Given the description of an element on the screen output the (x, y) to click on. 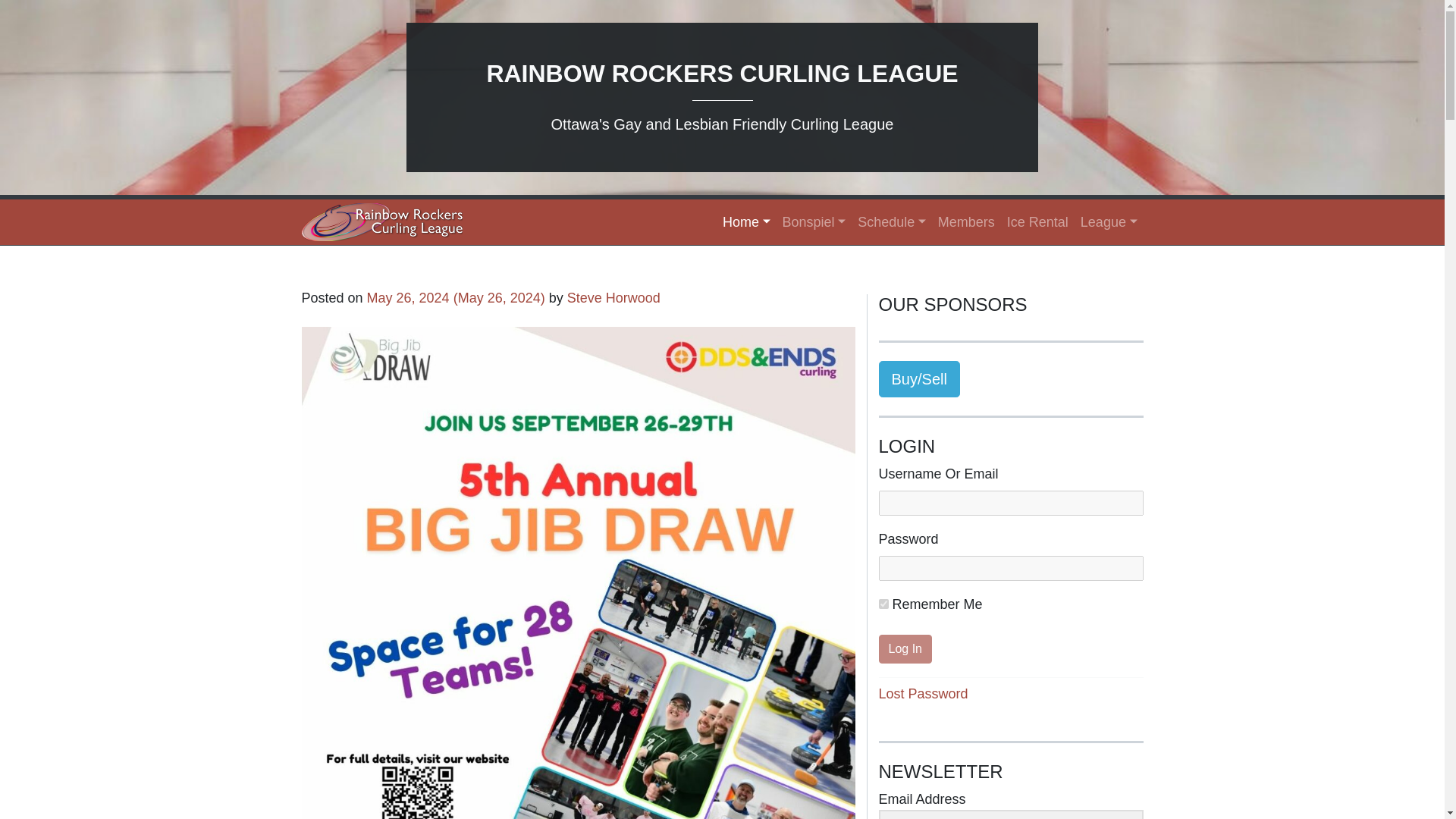
RAINBOW ROCKERS CURLING LEAGUE (722, 72)
Steve Horwood (614, 297)
Home (746, 222)
forever (883, 603)
Members (966, 222)
Bonspiel (813, 222)
Bonspiel (813, 222)
Members (966, 222)
Schedule (891, 222)
Ice Rental (1037, 222)
Log In (905, 648)
Ice Rental (1037, 222)
Home (746, 222)
League (1108, 222)
League (1108, 222)
